Given the description of an element on the screen output the (x, y) to click on. 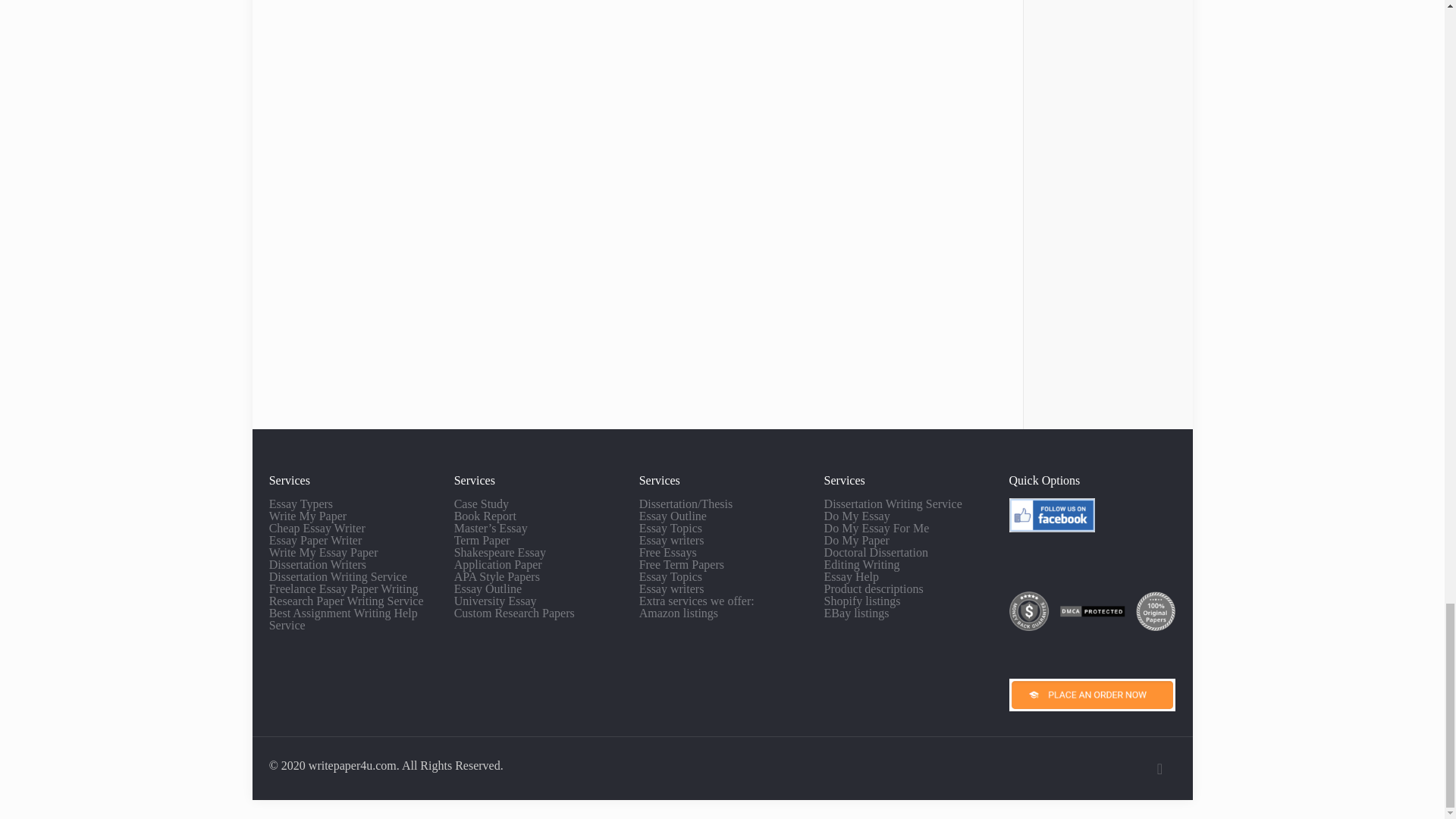
Case Study (481, 503)
Dissertation Writing Service (338, 576)
Write My Essay Paper (323, 552)
Write My Paper (307, 515)
Cheap Essay Writer (317, 527)
Book Report (485, 515)
Essay Paper Writer (315, 540)
Best Assignment Writing Help Service (343, 618)
Research Paper Writing Service (346, 600)
Freelance Essay Paper Writing (344, 588)
